Given the description of an element on the screen output the (x, y) to click on. 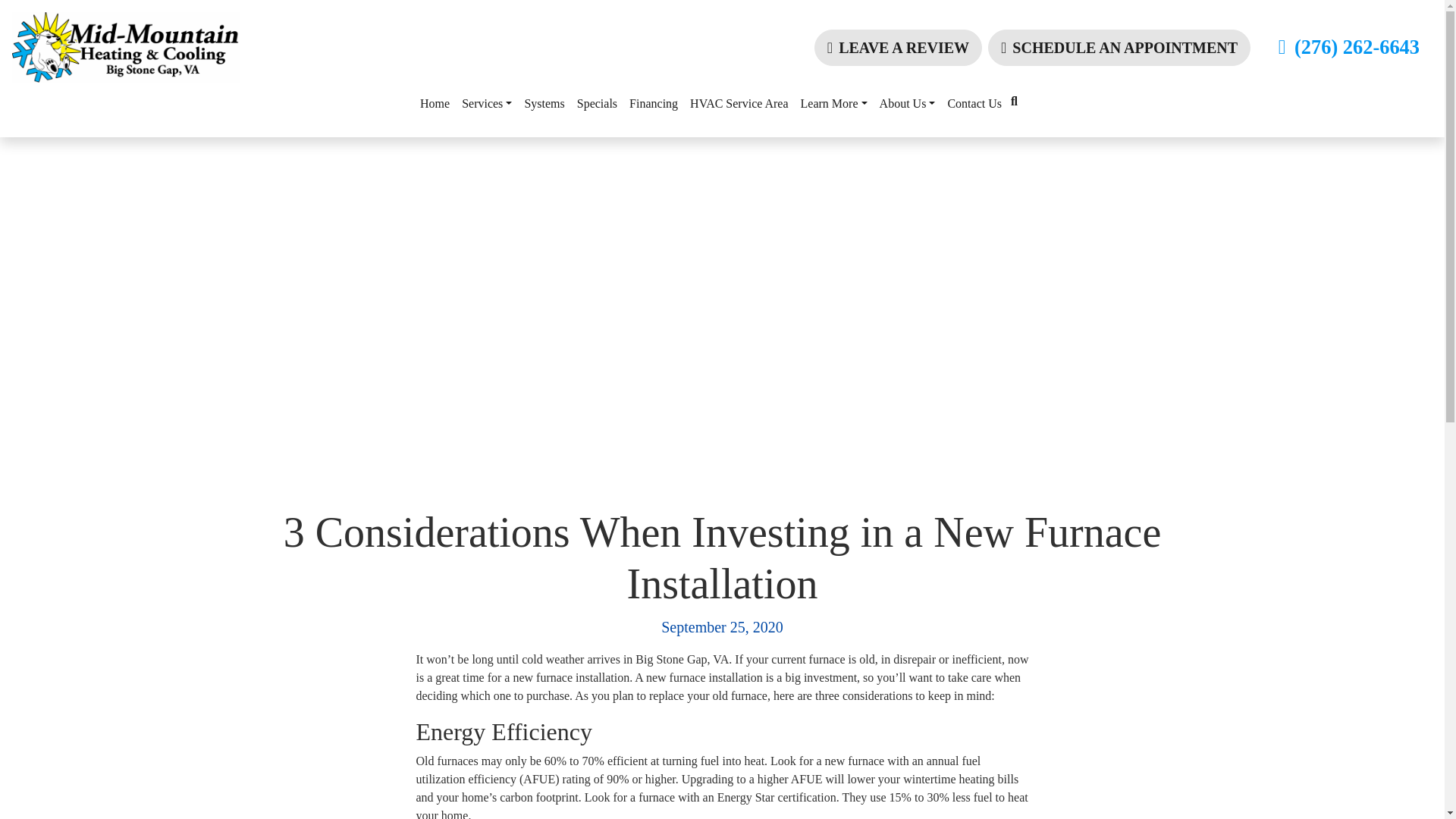
Specials (596, 103)
About Us (907, 103)
Learn More (833, 103)
Services (486, 103)
HVAC Service Area (738, 103)
Contact Us (973, 103)
SCHEDULE AN APPOINTMENT (1119, 47)
Financing (653, 103)
LEAVE A REVIEW (897, 47)
Systems (544, 103)
